Given the description of an element on the screen output the (x, y) to click on. 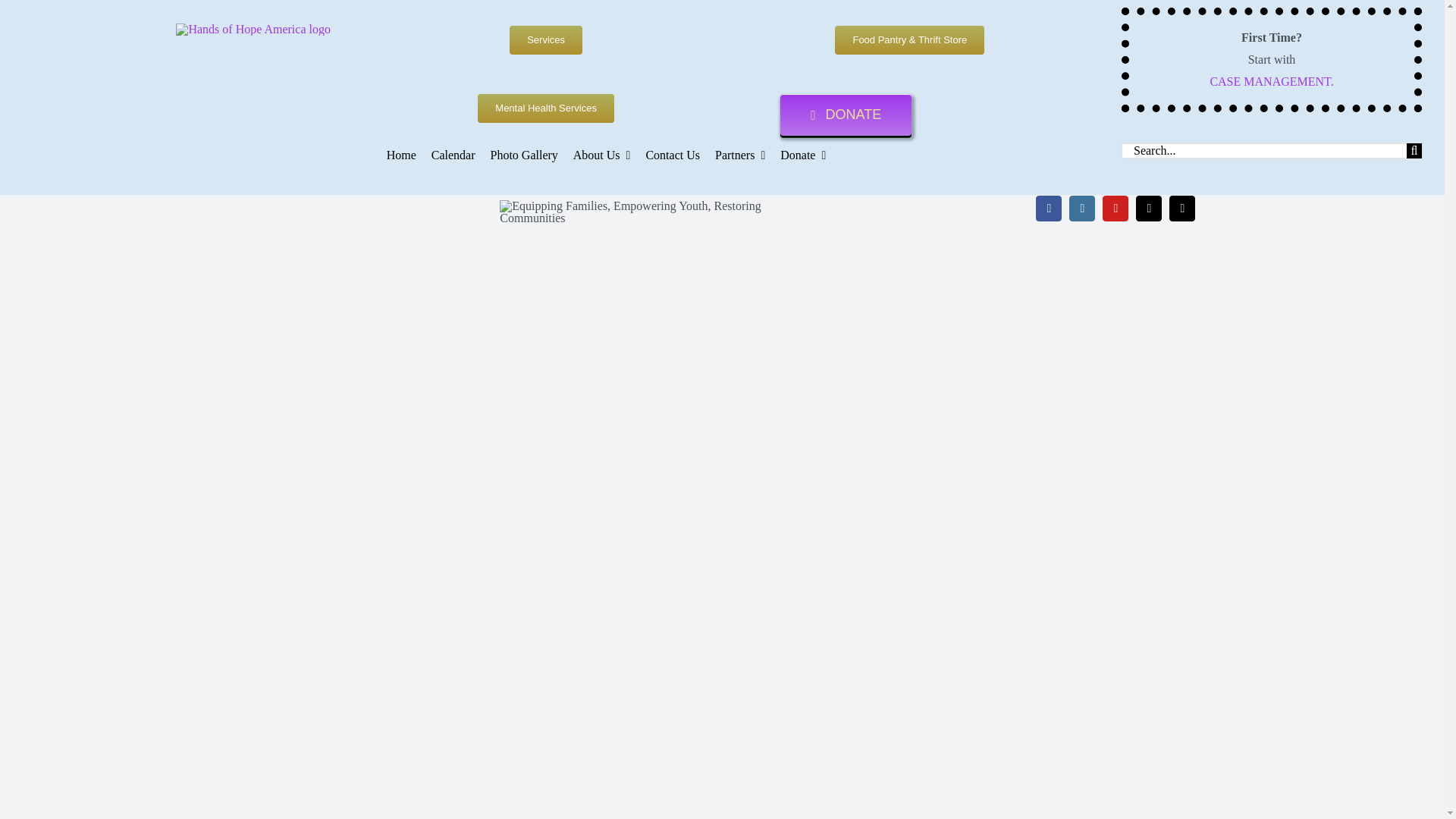
Instagram (1081, 208)
Contact Us (672, 155)
About Us (601, 155)
Phone (1148, 208)
Facebook (1048, 208)
Photo Gallery (523, 155)
Services (545, 39)
Mental Health Services (545, 108)
Partners (739, 155)
Home (401, 155)
Email (1182, 208)
CASE MANAGEMENT. (1271, 81)
YouTube (1115, 208)
DONATE (845, 114)
Calendar (453, 155)
